Given the description of an element on the screen output the (x, y) to click on. 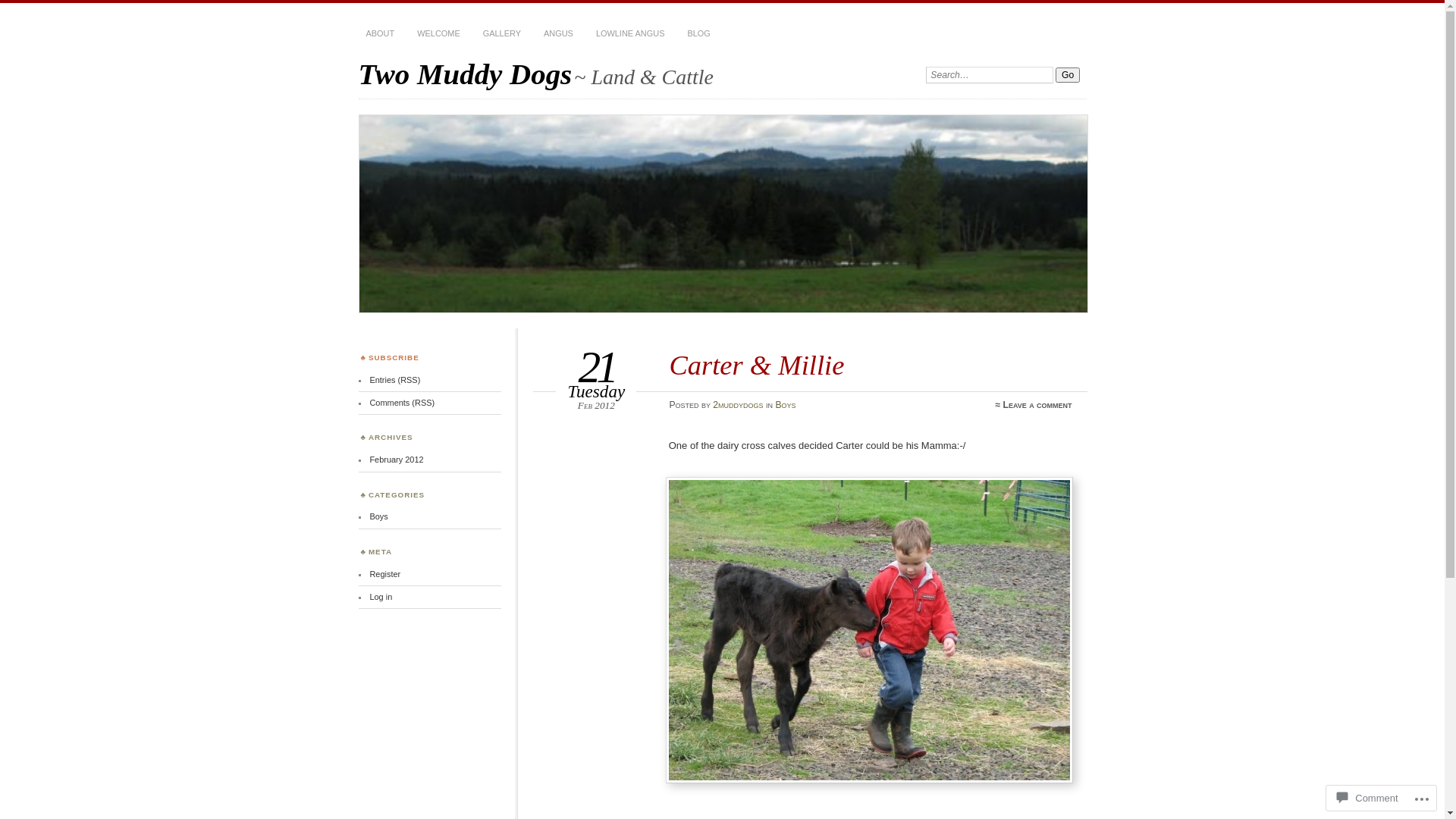
Boys Element type: text (785, 404)
2muddydogs Element type: text (737, 404)
Log in Element type: text (380, 596)
ABOUT Element type: text (379, 33)
Comments (RSS) Element type: text (401, 402)
Comment Element type: text (1366, 797)
Boys Element type: text (378, 515)
BLOG Element type: text (698, 33)
ANGUS Element type: text (558, 33)
Go Element type: text (1067, 74)
Leave a comment Element type: text (1037, 404)
WELCOME Element type: text (438, 33)
GALLERY Element type: text (501, 33)
Two Muddy Dogs Element type: hover (722, 213)
Two Muddy Dogs Element type: text (464, 73)
Entries (RSS) Element type: text (394, 378)
February 2012 Element type: text (396, 459)
Register Element type: text (384, 573)
LOWLINE ANGUS Element type: text (630, 33)
